Given the description of an element on the screen output the (x, y) to click on. 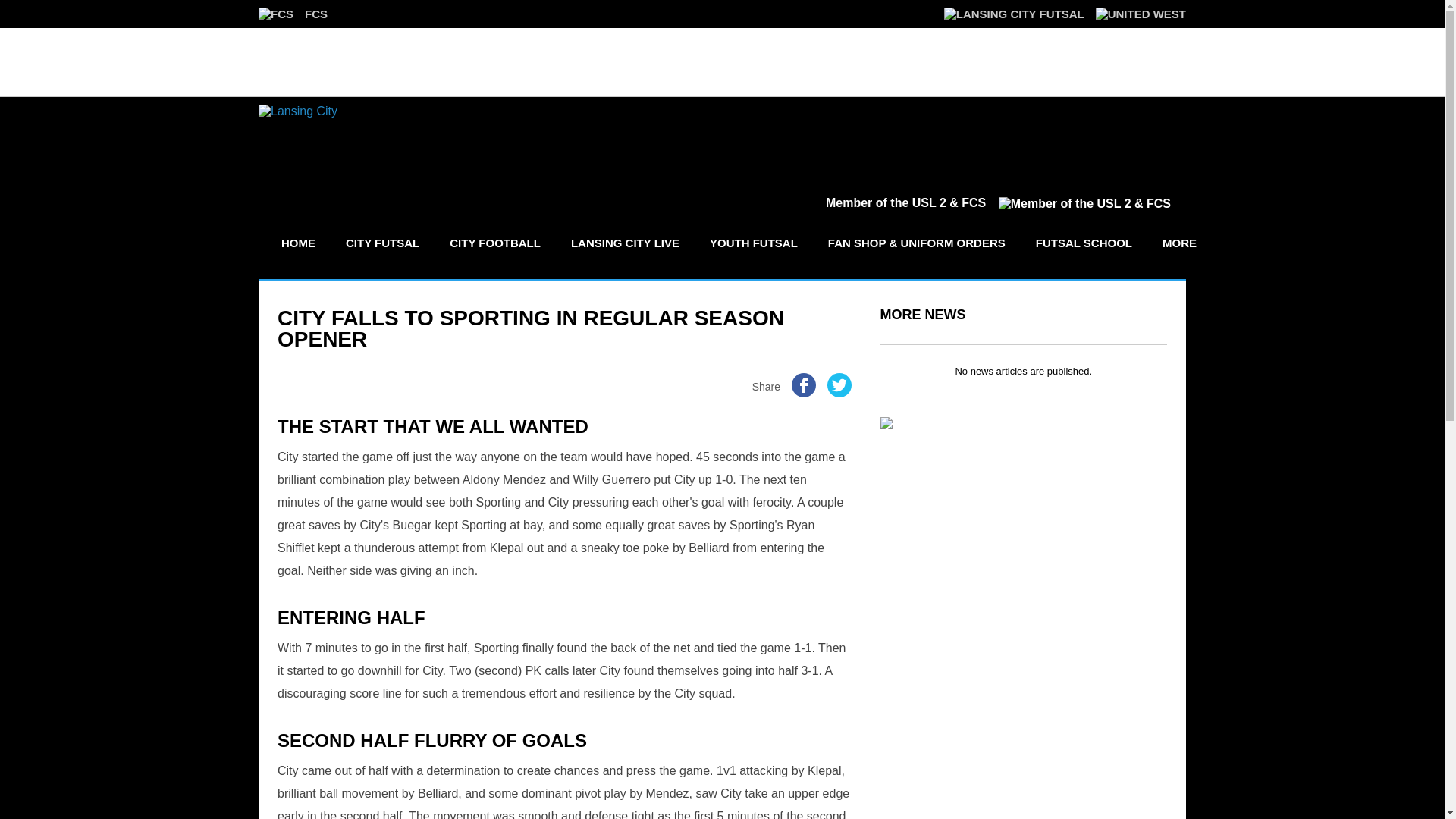
FUTSAL SCHOOL (1083, 242)
FCS (293, 13)
HOME (297, 242)
LANSING CITY LIVE (624, 242)
